Given the description of an element on the screen output the (x, y) to click on. 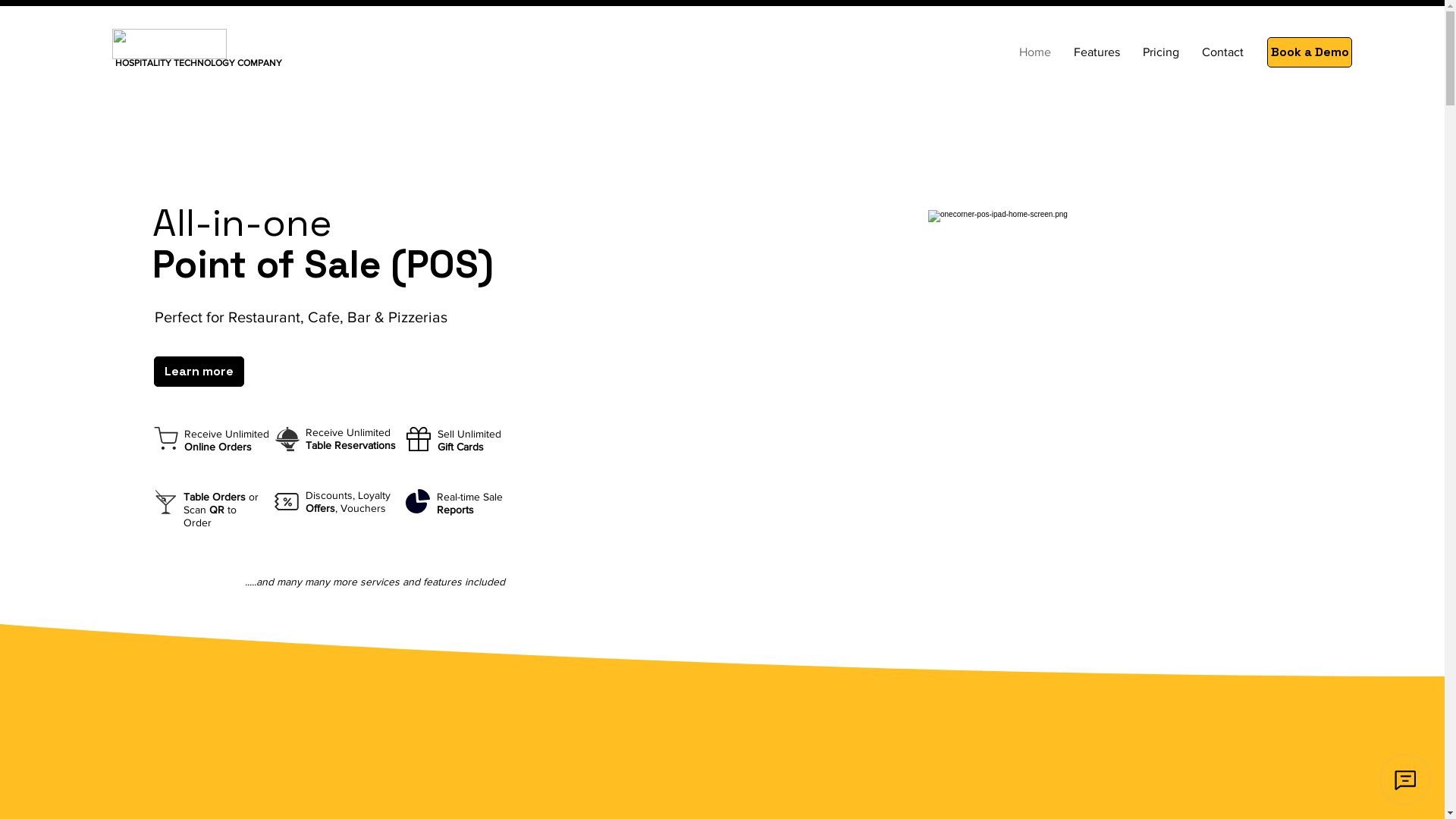
Book a Demo Element type: text (1309, 52)
Contact Element type: text (1222, 52)
Learn more Element type: text (198, 371)
Features Element type: text (1096, 52)
Pricing Element type: text (1160, 52)
Home Element type: text (1034, 52)
logo1.png Element type: hover (169, 43)
